Given the description of an element on the screen output the (x, y) to click on. 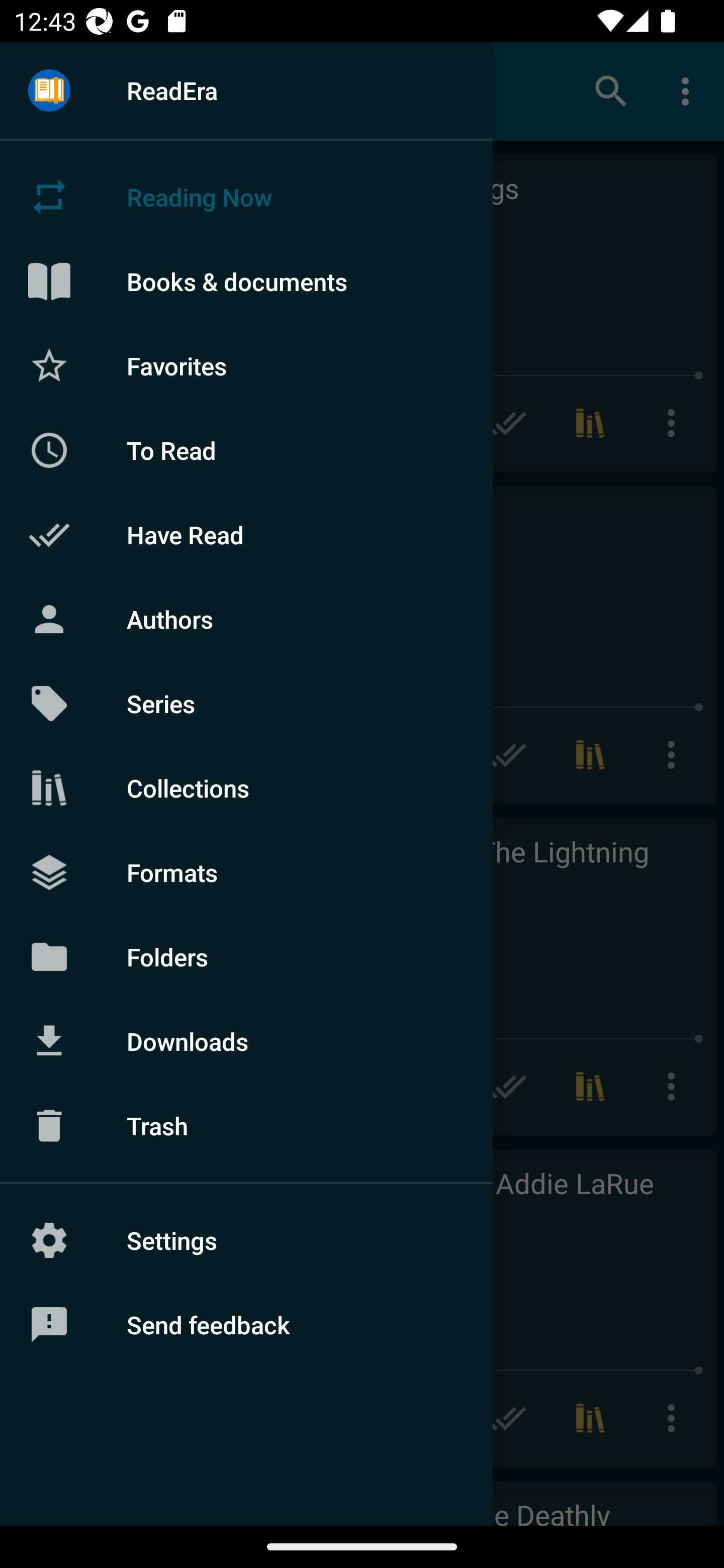
Menu (49, 91)
ReadEra (246, 89)
Search books & documents (611, 90)
More options (688, 90)
Reading Now (246, 197)
Books & documents (246, 281)
Favorites (246, 365)
To Read (246, 449)
Have Read (246, 534)
Authors (246, 619)
Series (246, 703)
Collections (246, 787)
Formats (246, 871)
Folders (246, 956)
Downloads (246, 1040)
Trash (246, 1125)
Settings (246, 1239)
Send feedback (246, 1324)
